Given the description of an element on the screen output the (x, y) to click on. 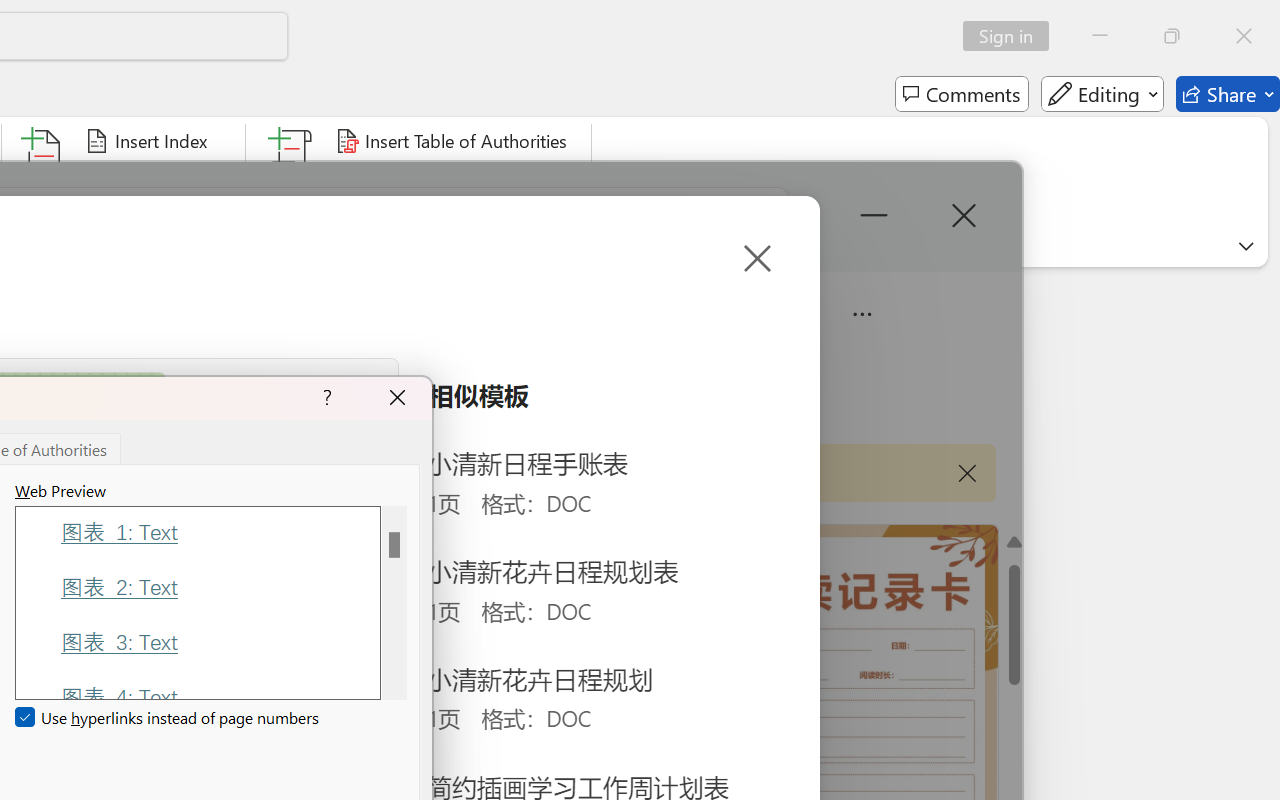
Web Preview (394, 602)
Insert Table of Authorities... (453, 141)
AutomationID: 66 (394, 602)
Insert Index... (149, 141)
